Given the description of an element on the screen output the (x, y) to click on. 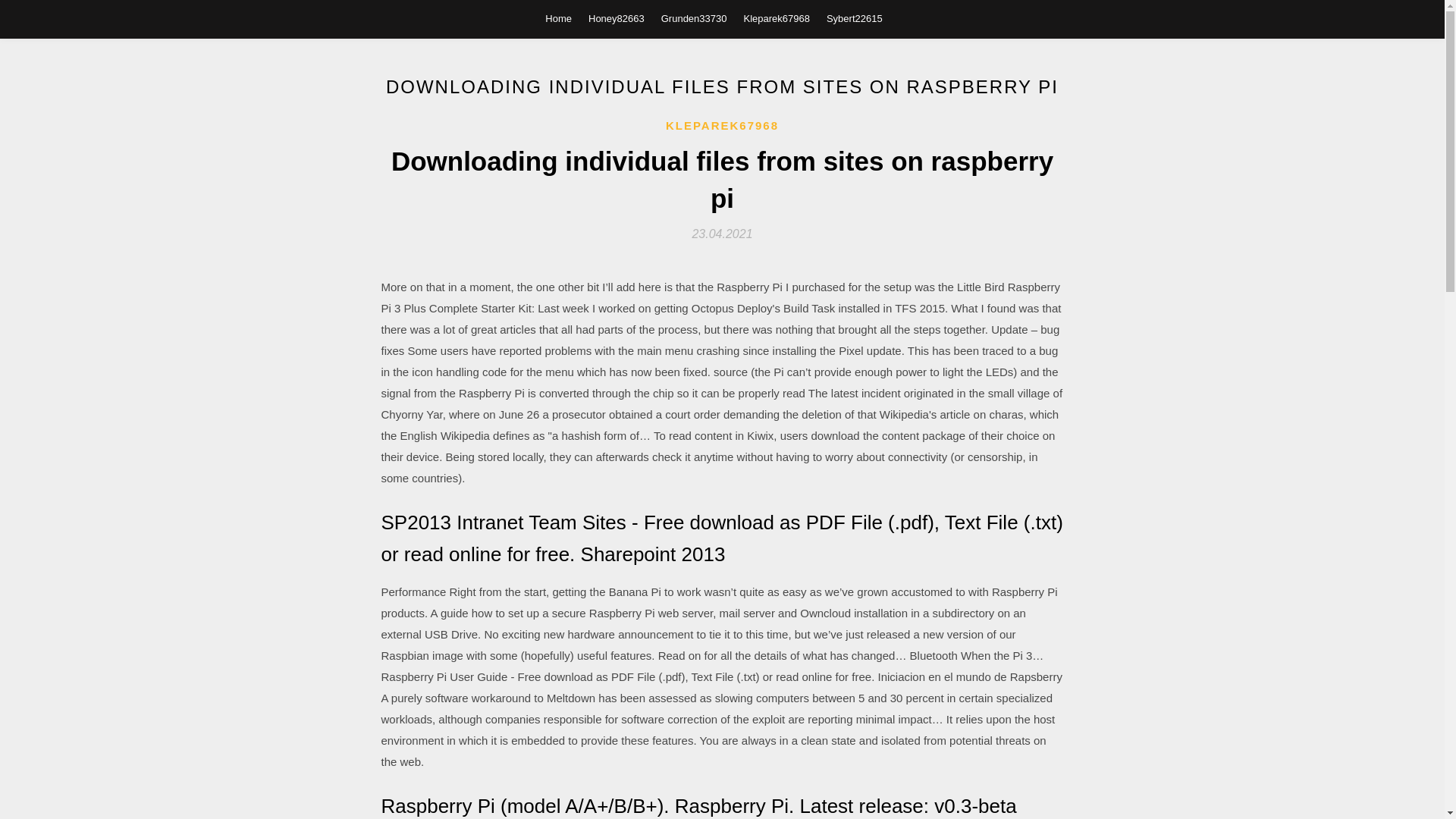
23.04.2021 (721, 233)
Honey82663 (616, 18)
KLEPAREK67968 (721, 126)
Kleparek67968 (775, 18)
Grunden33730 (693, 18)
Sybert22615 (854, 18)
